Given the description of an element on the screen output the (x, y) to click on. 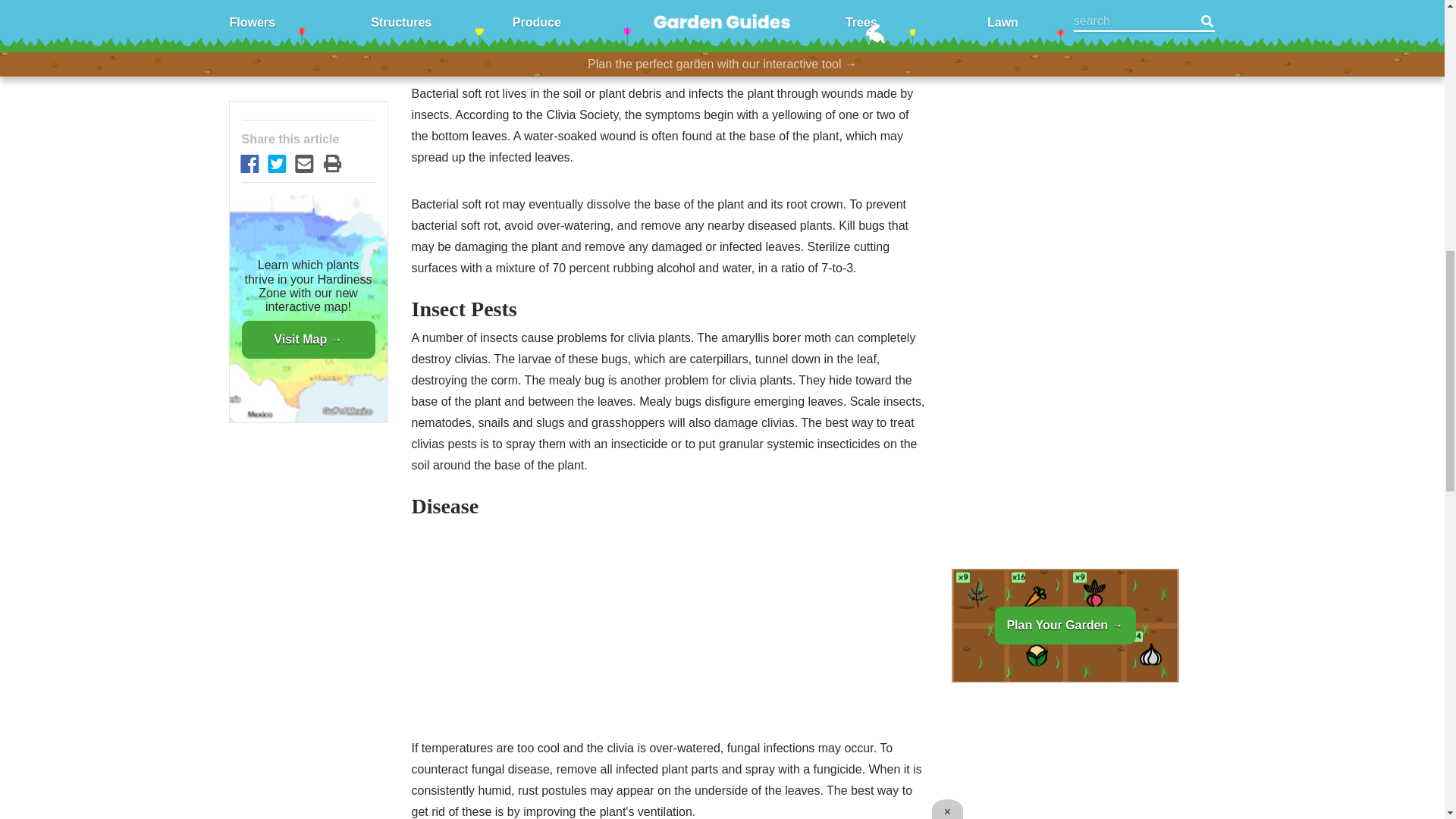
Advertisement (668, 631)
Advertisement (668, 15)
